Given the description of an element on the screen output the (x, y) to click on. 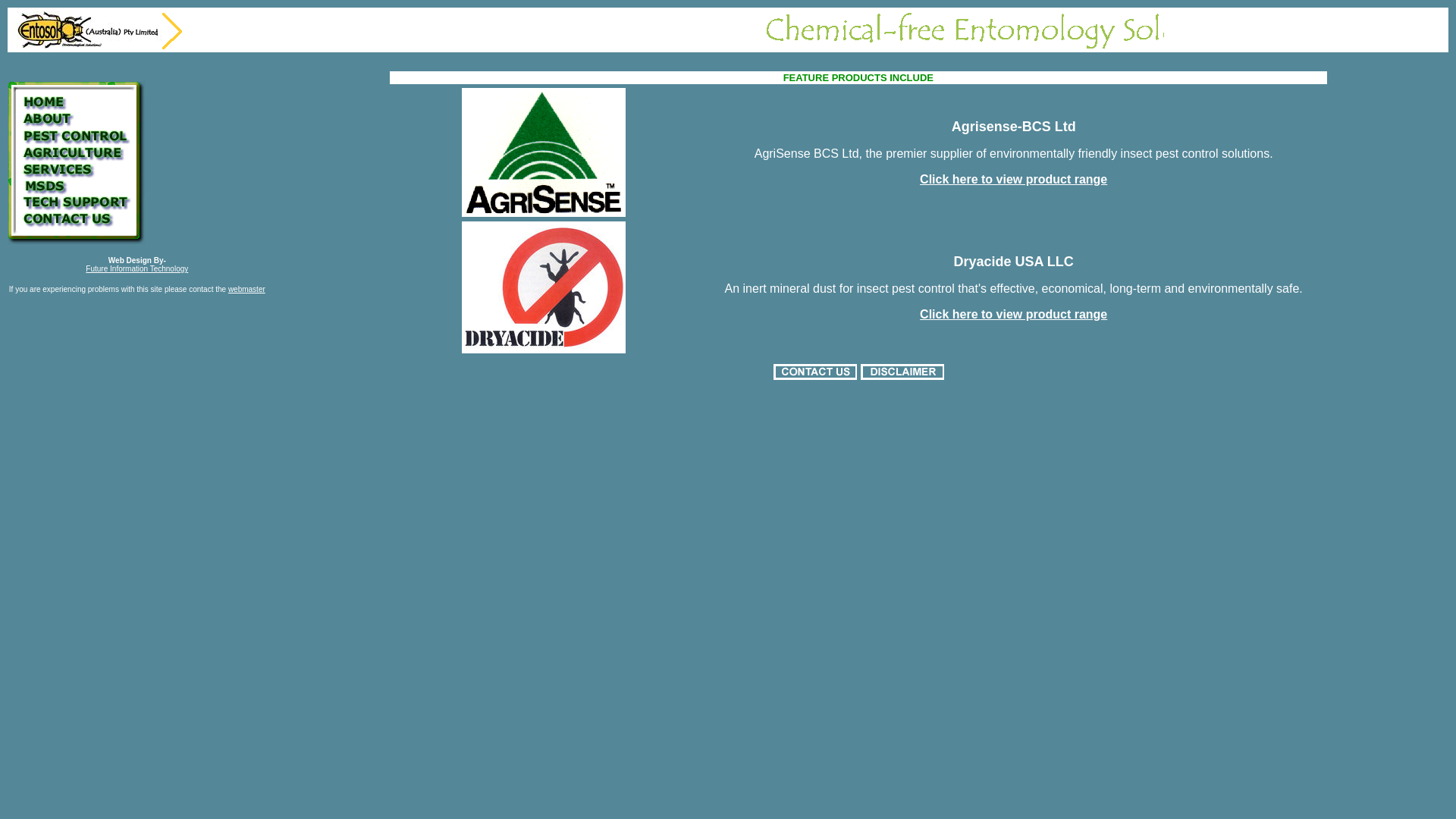
Click here to view product range Element type: text (1013, 313)
webmaster Element type: text (246, 289)
Future Information Technology Element type: text (136, 268)
Click here to view product range Element type: text (1013, 178)
